Given the description of an element on the screen output the (x, y) to click on. 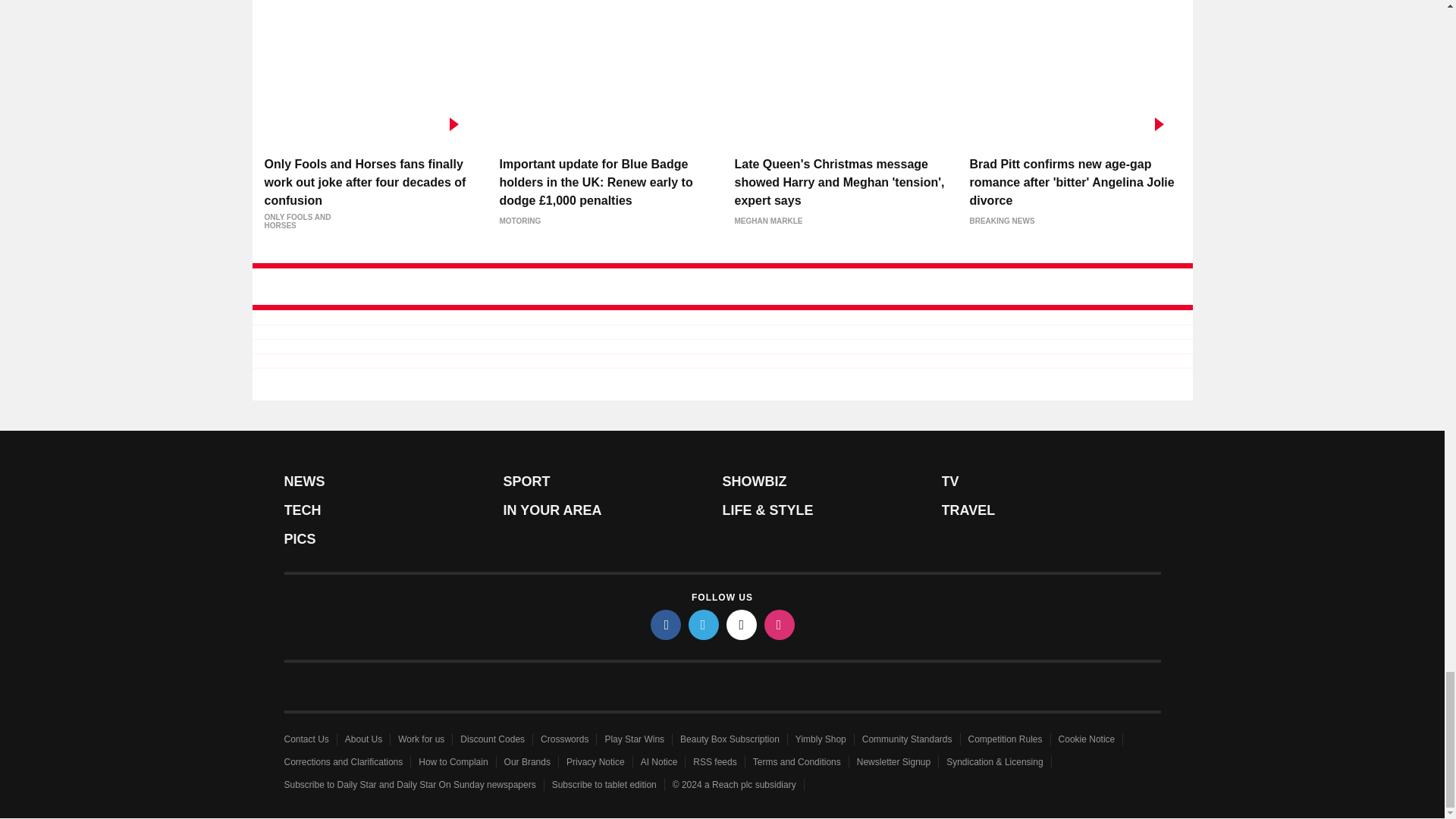
tiktok (741, 624)
facebook (665, 624)
twitter (703, 624)
instagram (779, 624)
